Given the description of an element on the screen output the (x, y) to click on. 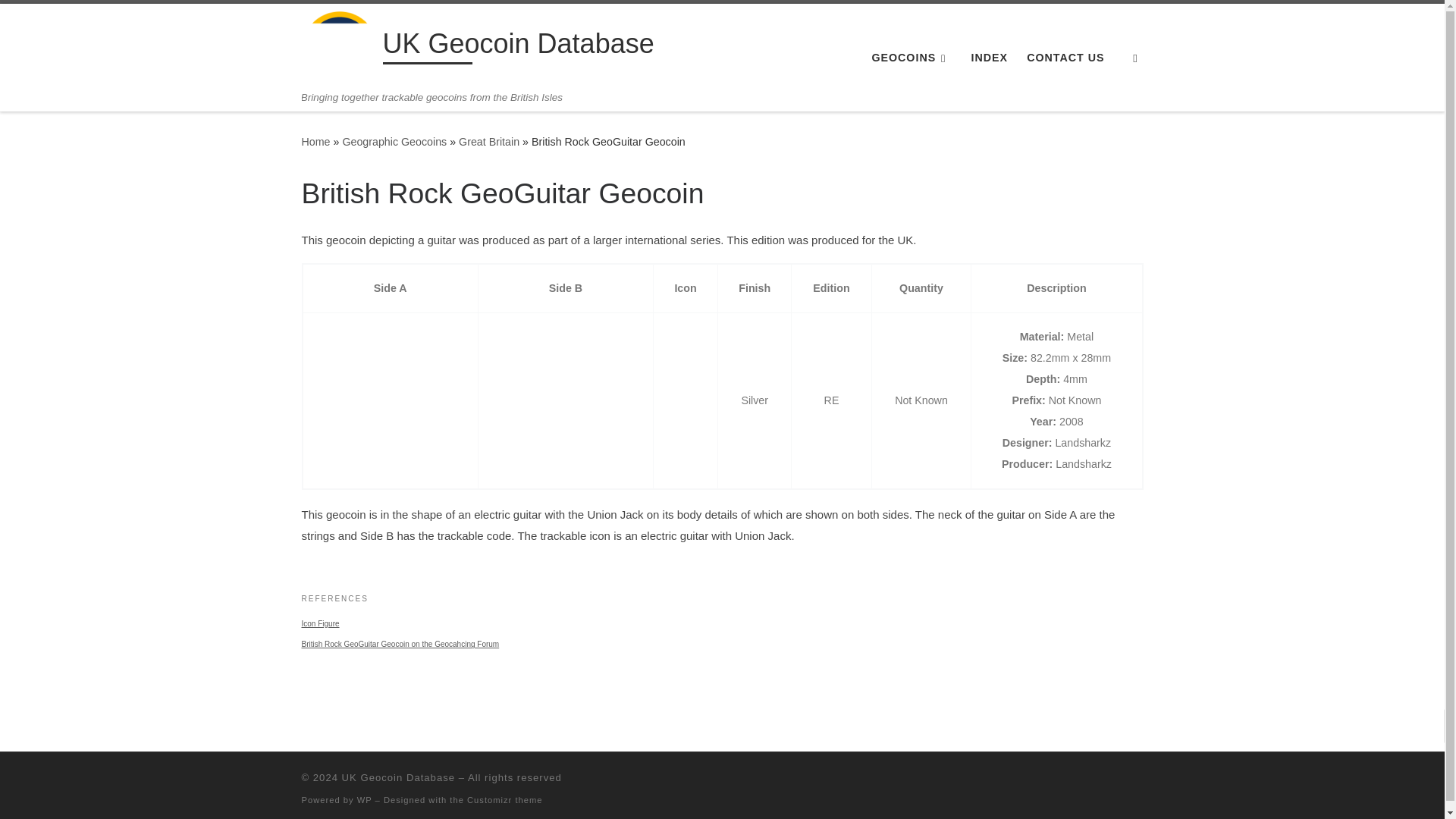
Great Britain (488, 141)
Powered by WordPress (364, 798)
UK Geocoin Database (398, 777)
GEOCOINS (911, 57)
UK Geocoin Database (517, 47)
Geographic Geocoins (394, 141)
Skip to content (60, 20)
CONTACT US (1065, 57)
UK Geocoin Database (315, 141)
Customizr theme (505, 798)
